Given the description of an element on the screen output the (x, y) to click on. 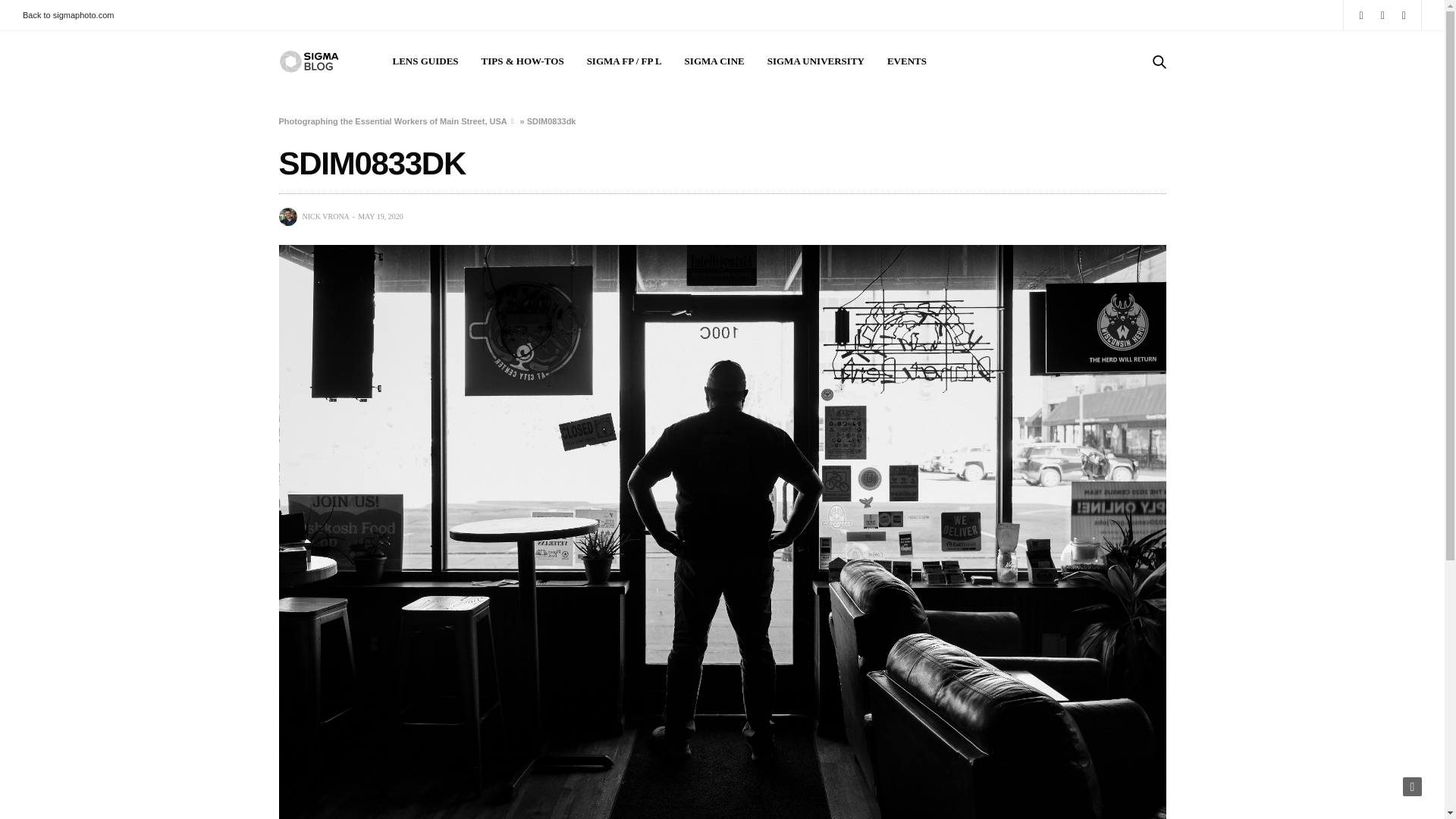
EVENTS (906, 61)
Back to sigmaphoto.com (71, 15)
SIGMA CINE (714, 61)
SIGMA UNIVERSITY (815, 61)
Posts by Nick Vrona (325, 216)
Search (1137, 112)
NICK VRONA (325, 216)
Photographing the Essential Workers of Main Street, USA (392, 121)
LENS GUIDES (425, 61)
